Given the description of an element on the screen output the (x, y) to click on. 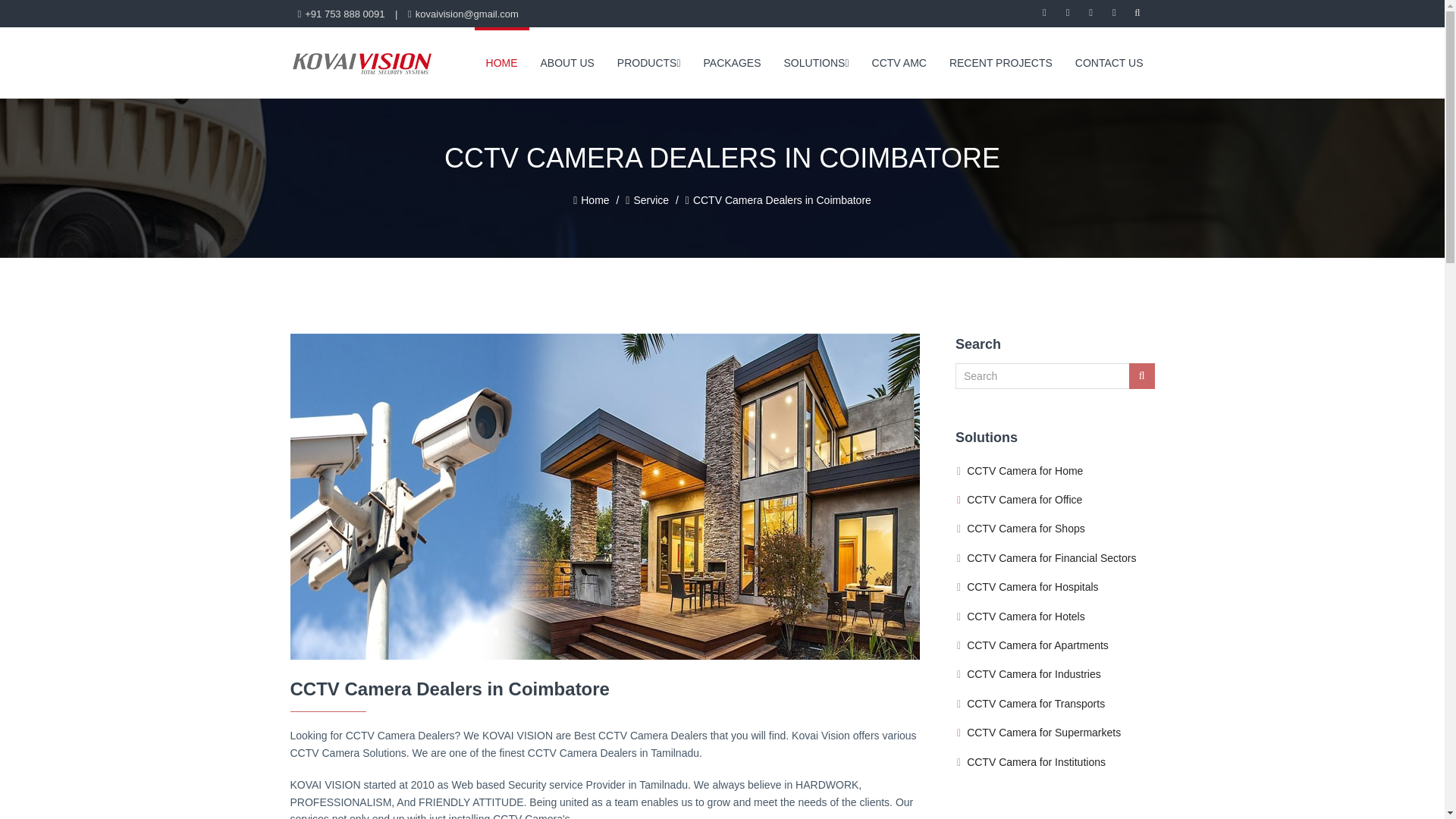
RECENT PROJECTS (1000, 62)
CCTV AMC (898, 62)
PACKAGES (733, 62)
ABOUT US (567, 62)
SOLUTIONS (816, 62)
CONTACT US (1109, 62)
PRODUCTS (649, 62)
Home (594, 200)
